Given the description of an element on the screen output the (x, y) to click on. 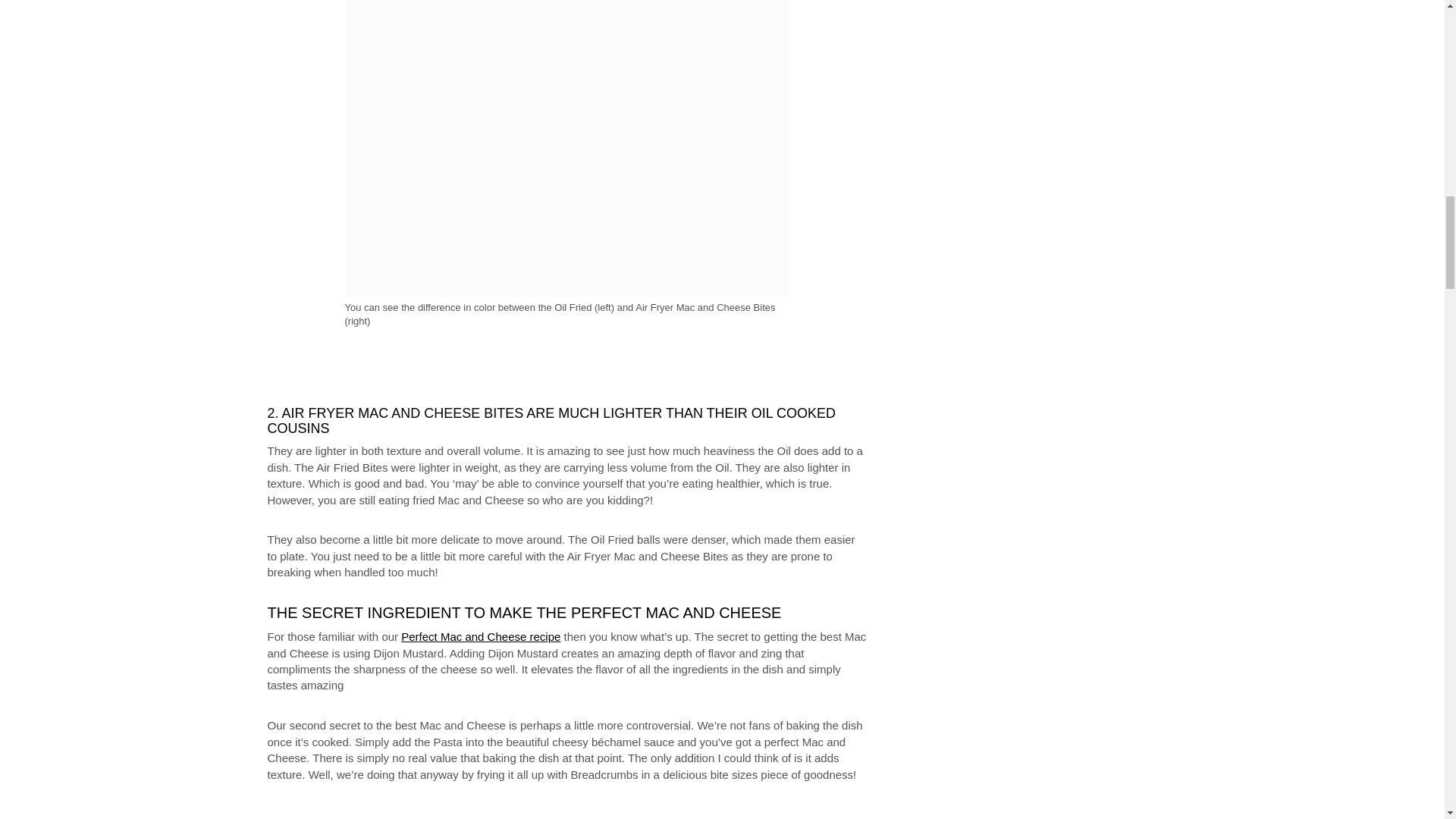
Cheesy Air Fryer Mac and Cheese Bites (437, 812)
